Given the description of an element on the screen output the (x, y) to click on. 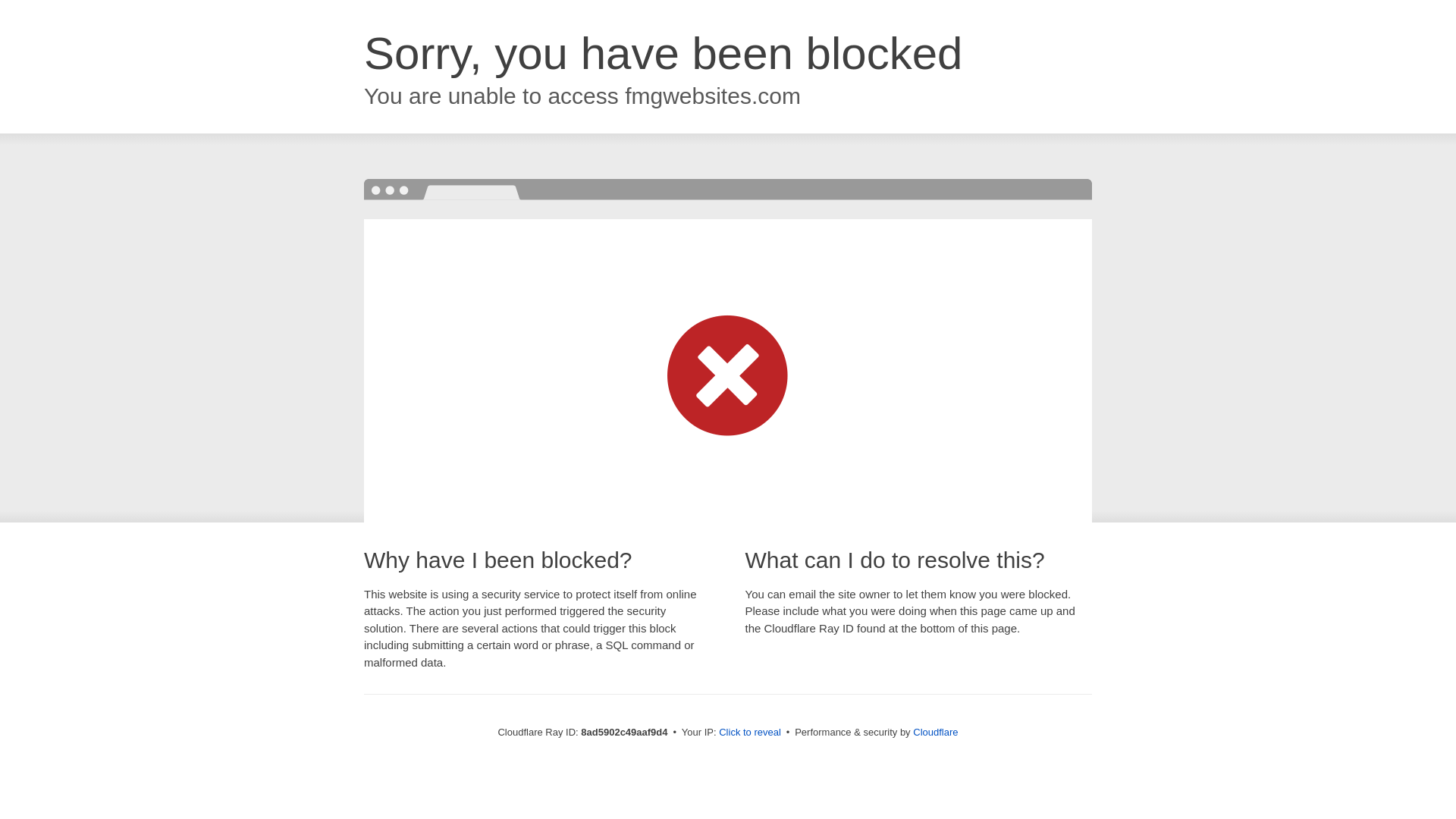
Cloudflare (935, 731)
Click to reveal (749, 732)
